Given the description of an element on the screen output the (x, y) to click on. 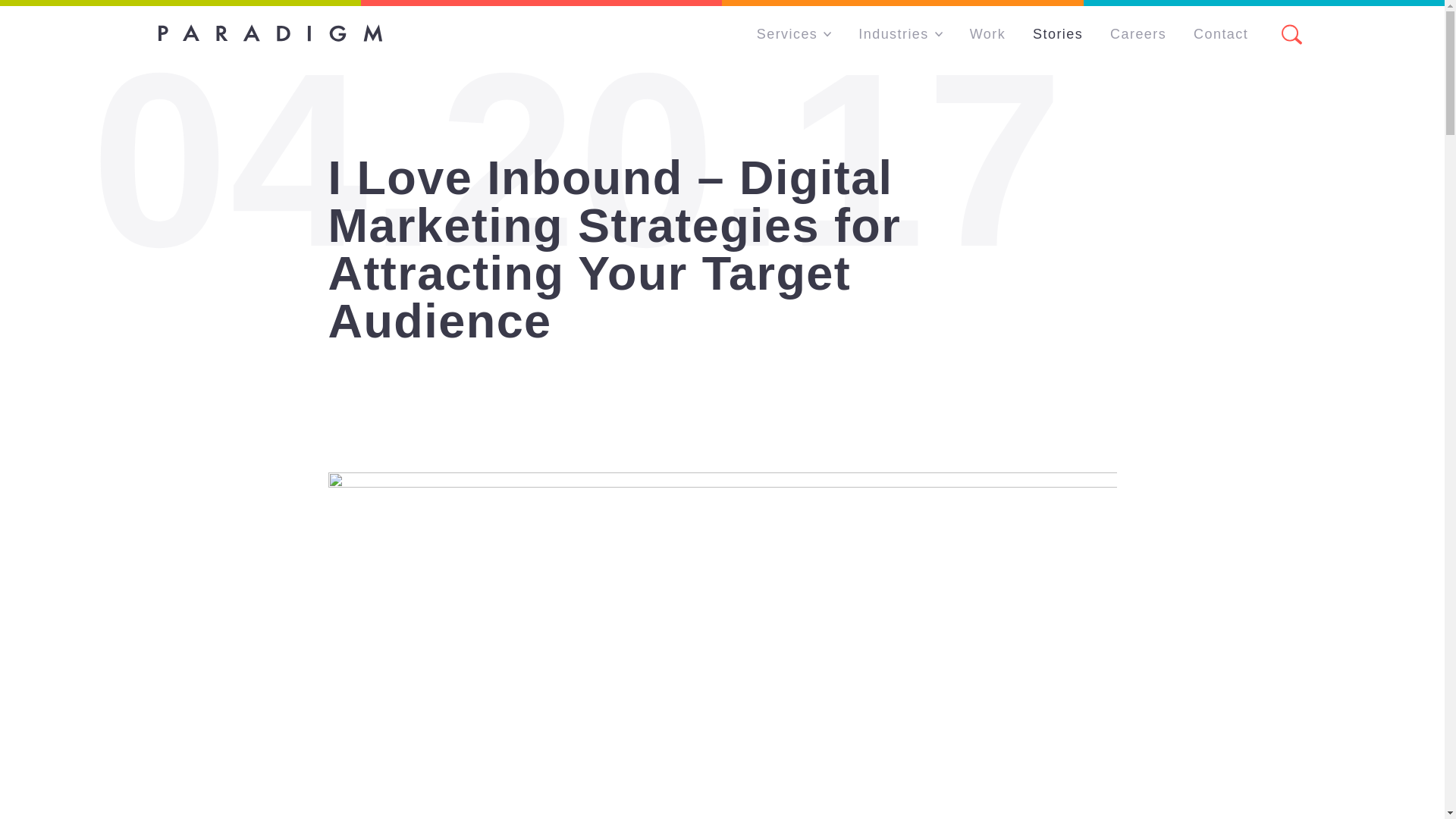
Search (1279, 34)
Paradigm New Media Group (269, 32)
Search (1291, 34)
Paradigm New Media Group (269, 32)
Industries (900, 34)
Stories (1057, 34)
Work (986, 34)
Services (793, 34)
Contact (1220, 34)
Careers (1138, 34)
